Given the description of an element on the screen output the (x, y) to click on. 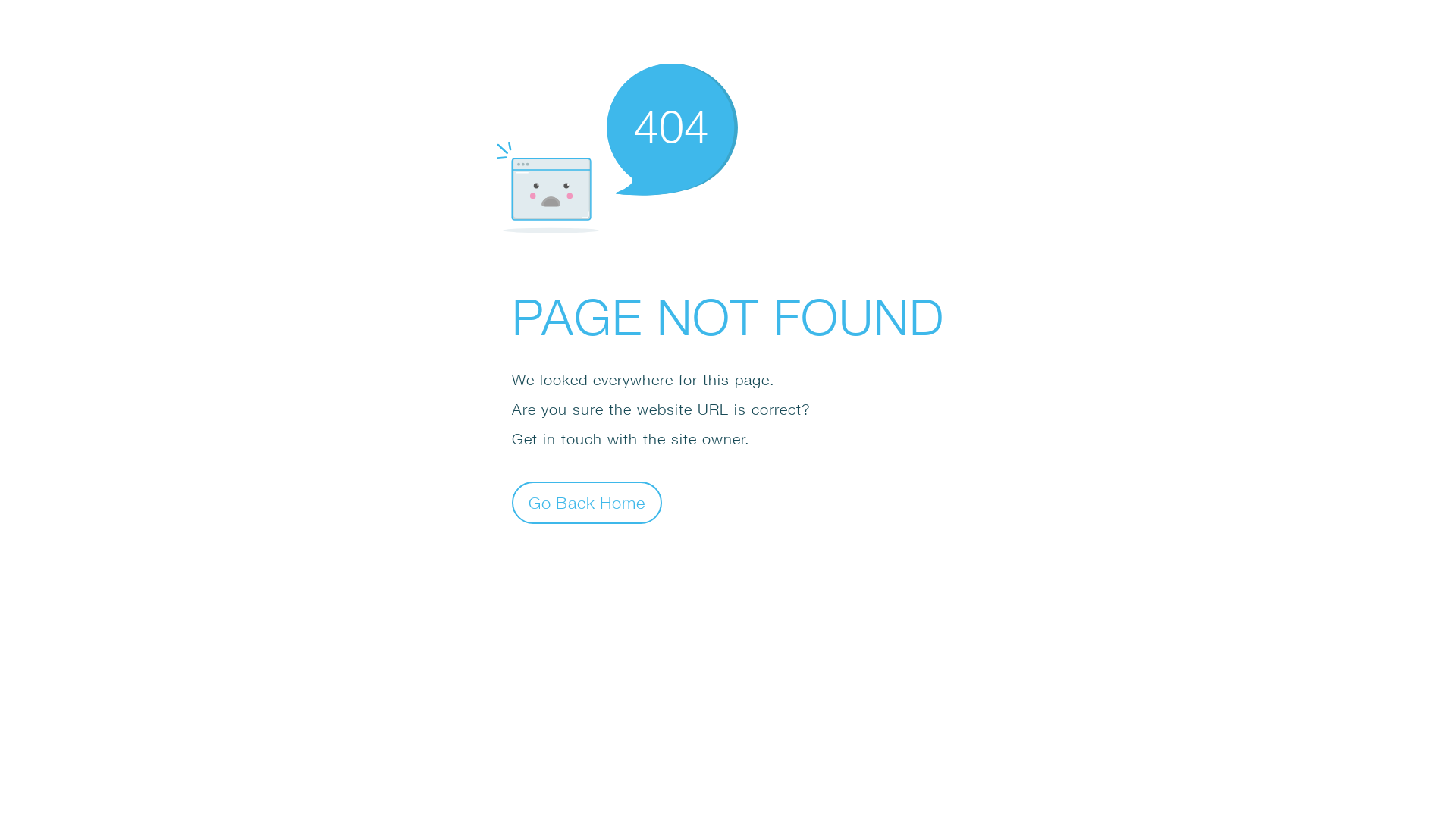
Go Back Home Element type: text (586, 502)
